Given the description of an element on the screen output the (x, y) to click on. 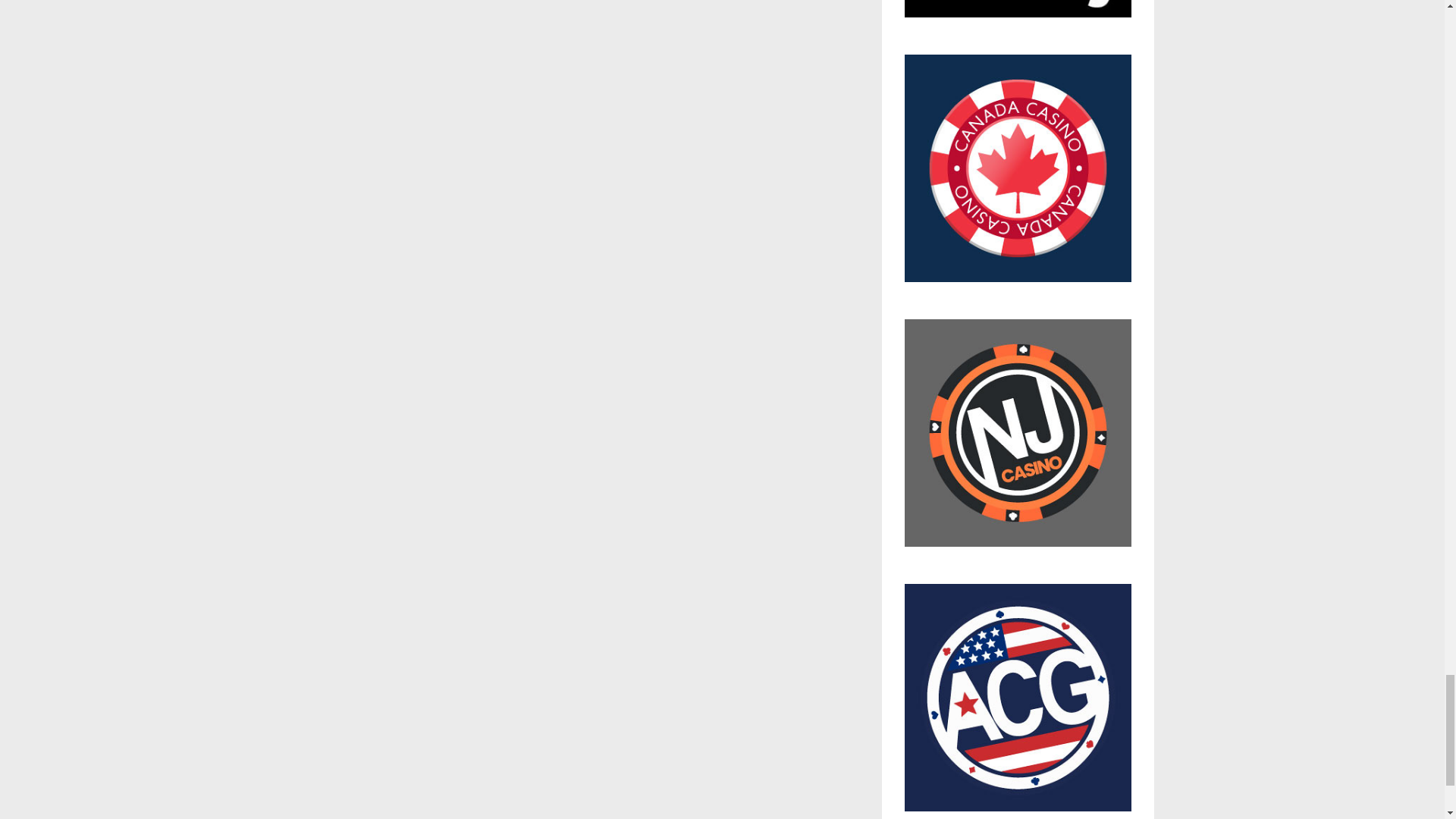
canada casino (1017, 175)
nj casino (1017, 440)
acg casino (1017, 697)
